Given the description of an element on the screen output the (x, y) to click on. 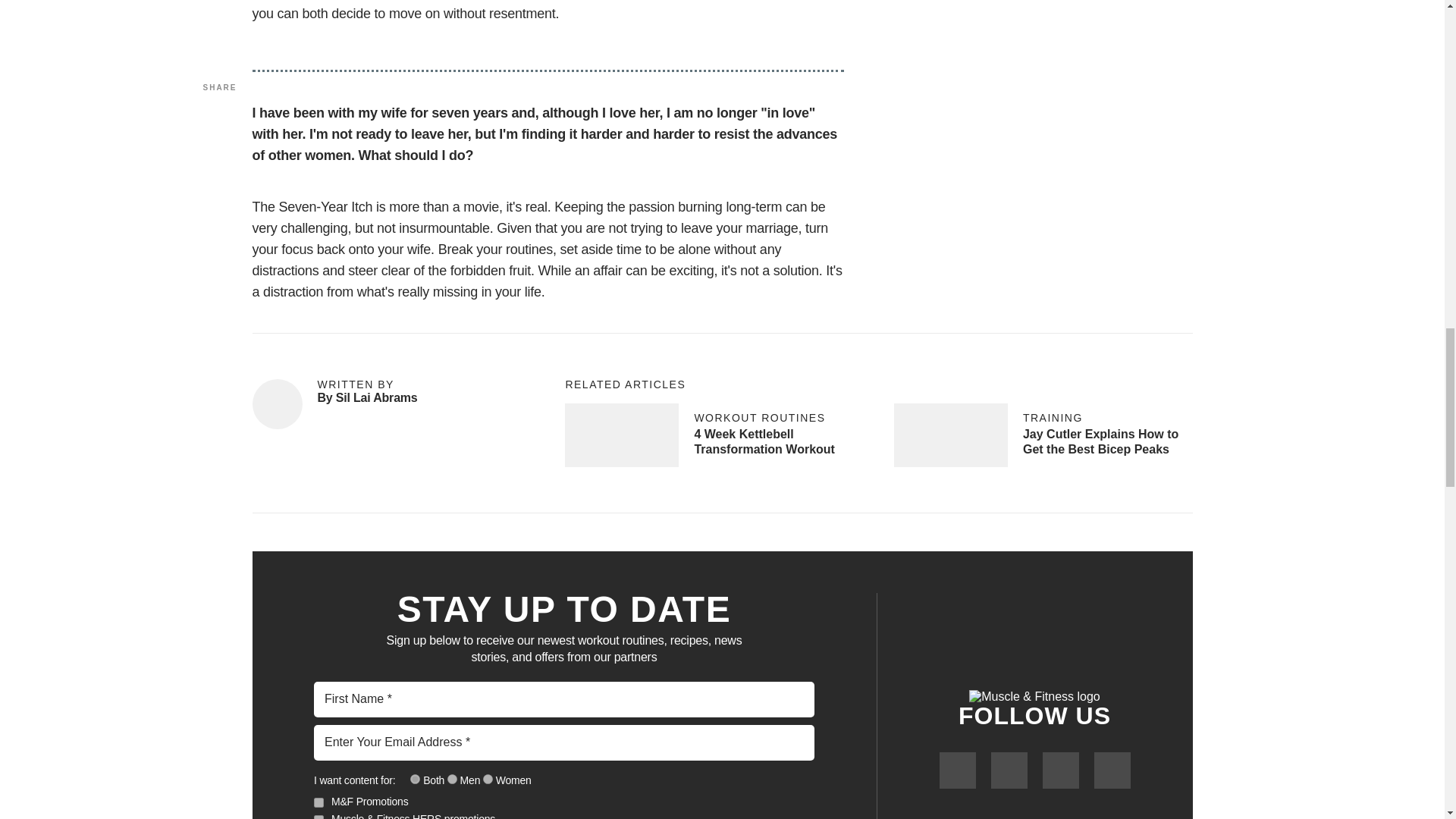
755 (415, 778)
759 (488, 778)
Muscle and Fitness on YouTube (1060, 770)
Muscle and Fitness on Facebook (957, 770)
757 (451, 778)
Muscle and Fitness on Twitter (1008, 770)
763 (318, 815)
